Given the description of an element on the screen output the (x, y) to click on. 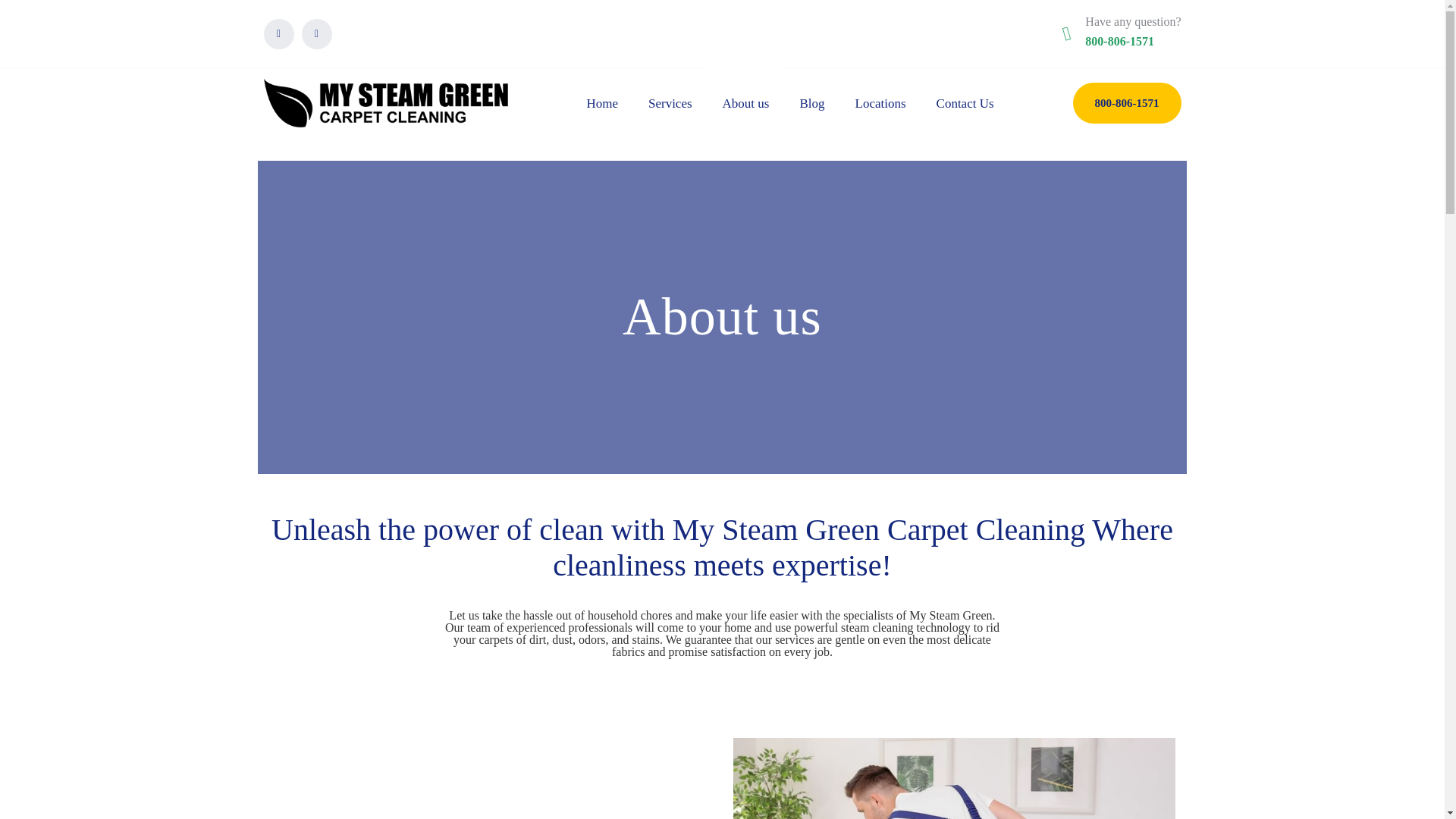
Family Owned and Operated (953, 778)
